Given the description of an element on the screen output the (x, y) to click on. 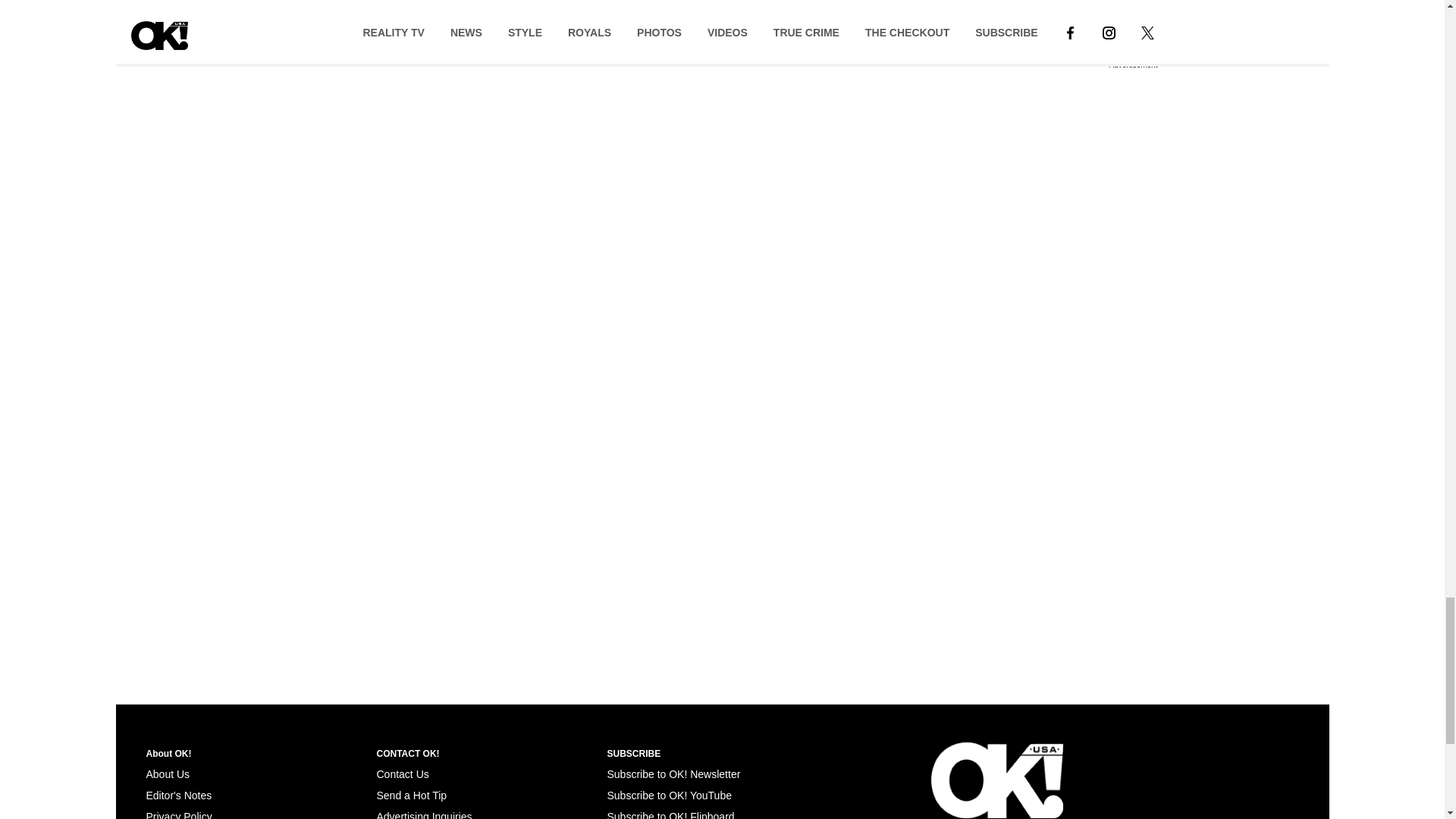
Contact Us (401, 774)
Send a Hot Tip (410, 795)
Privacy Policy (178, 814)
About Us (167, 774)
Editor's Notes (178, 795)
Advertising Inquiries (423, 814)
